Given the description of an element on the screen output the (x, y) to click on. 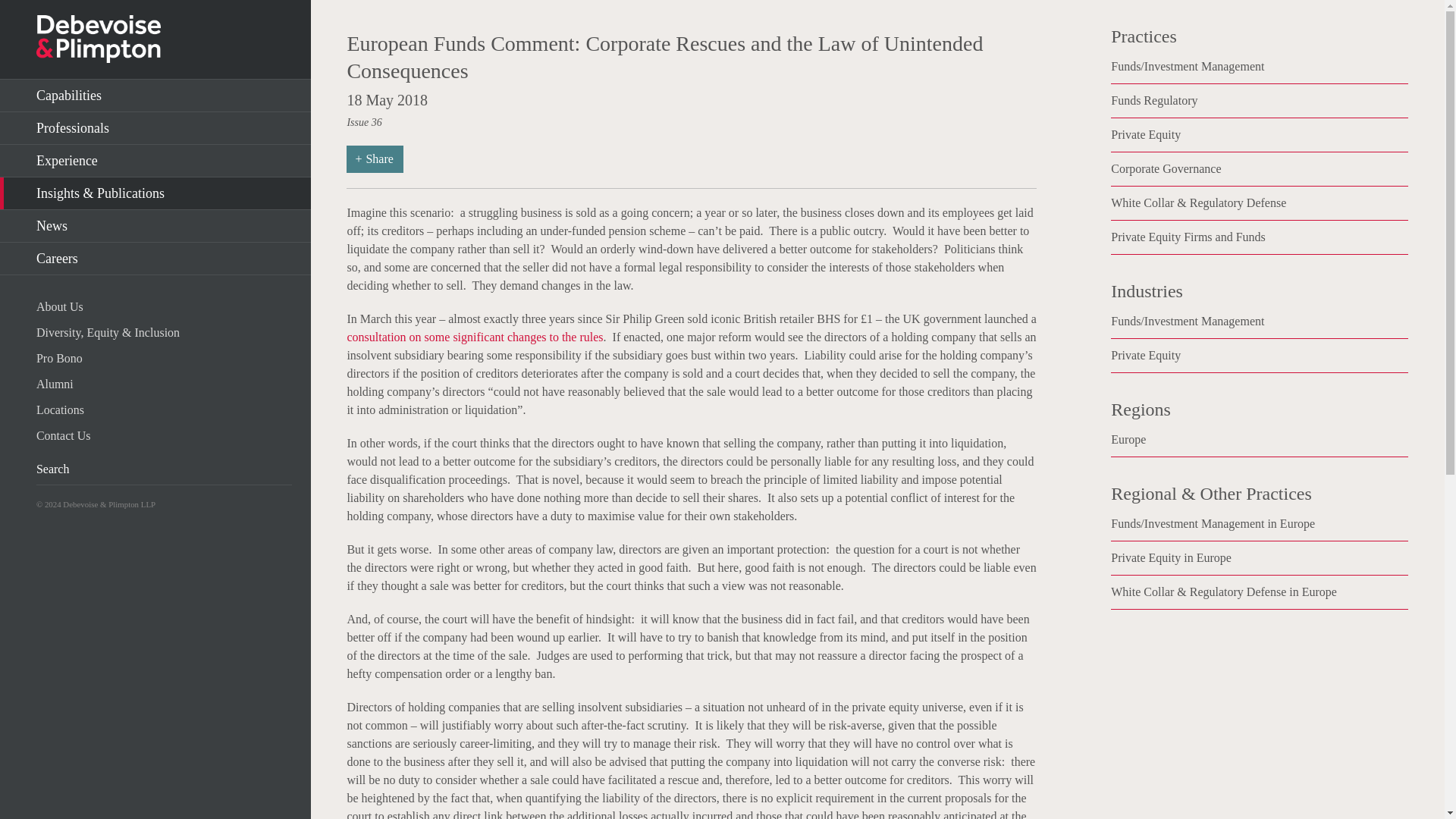
Experience (155, 160)
Contact Us (164, 435)
Pro Bono (164, 358)
Careers (155, 258)
Capabilities (155, 95)
Professionals (155, 128)
consultation on some significant changes to the rules (474, 336)
About Us (164, 307)
Share (374, 158)
Locations (164, 410)
